Given the description of an element on the screen output the (x, y) to click on. 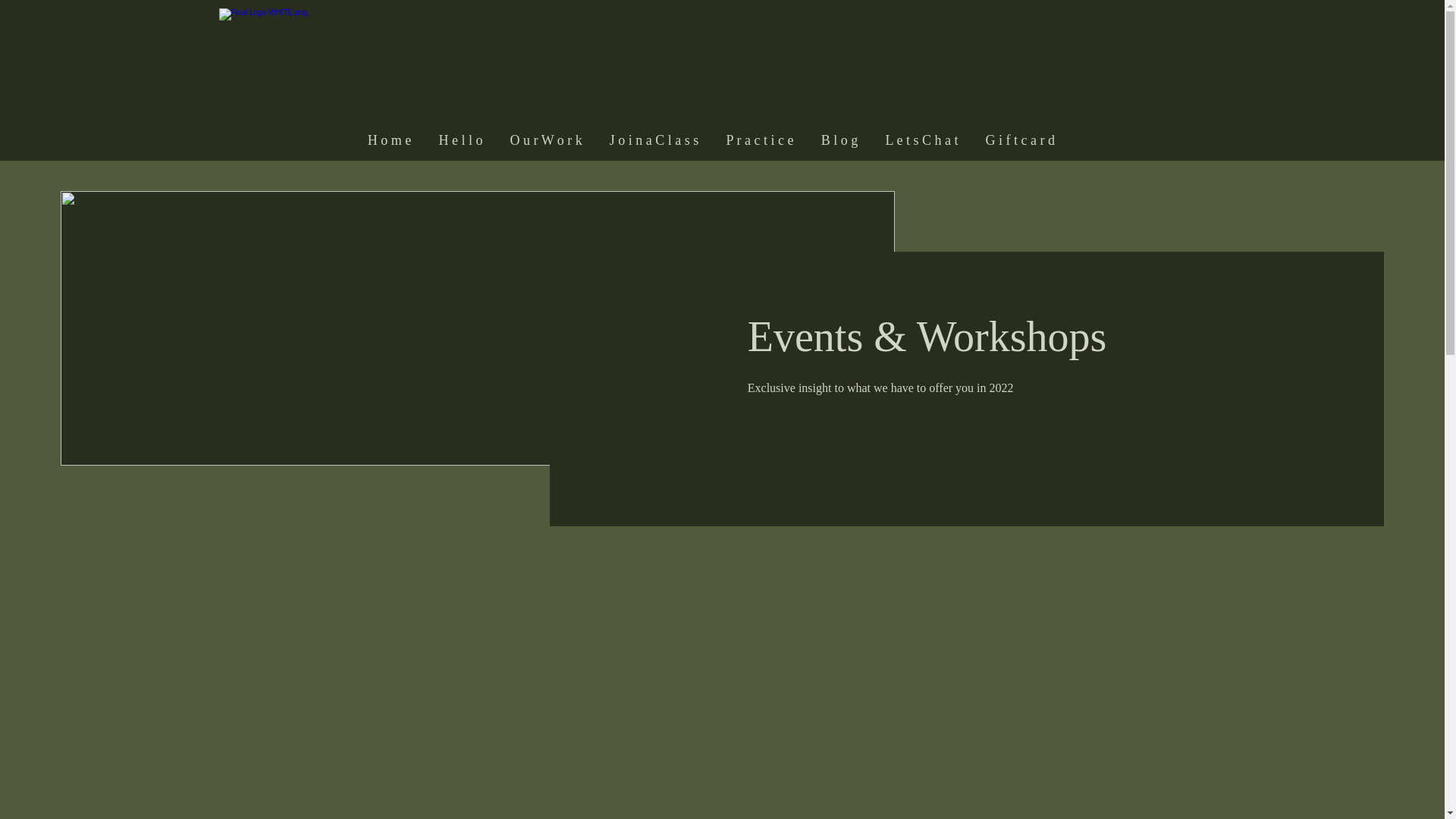
H e l l o (460, 133)
H o m e (389, 133)
P r a c t i c e (760, 133)
G i f t c a r d (1020, 133)
L e t s C h a t (922, 133)
O u r W o r k (545, 133)
J o i n a C l a s s (654, 133)
